Given the description of an element on the screen output the (x, y) to click on. 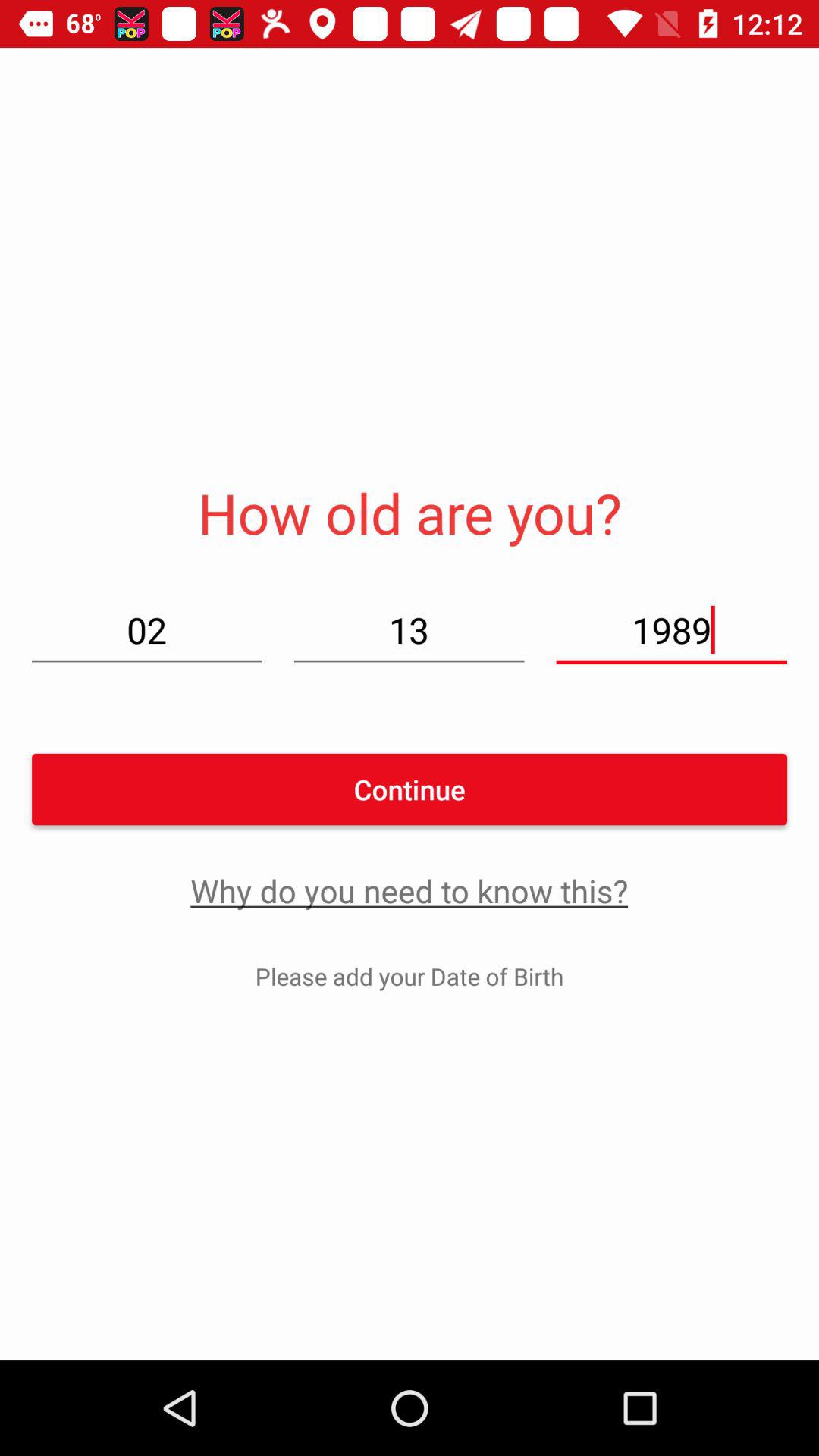
turn off the item above the please add your item (408, 890)
